Given the description of an element on the screen output the (x, y) to click on. 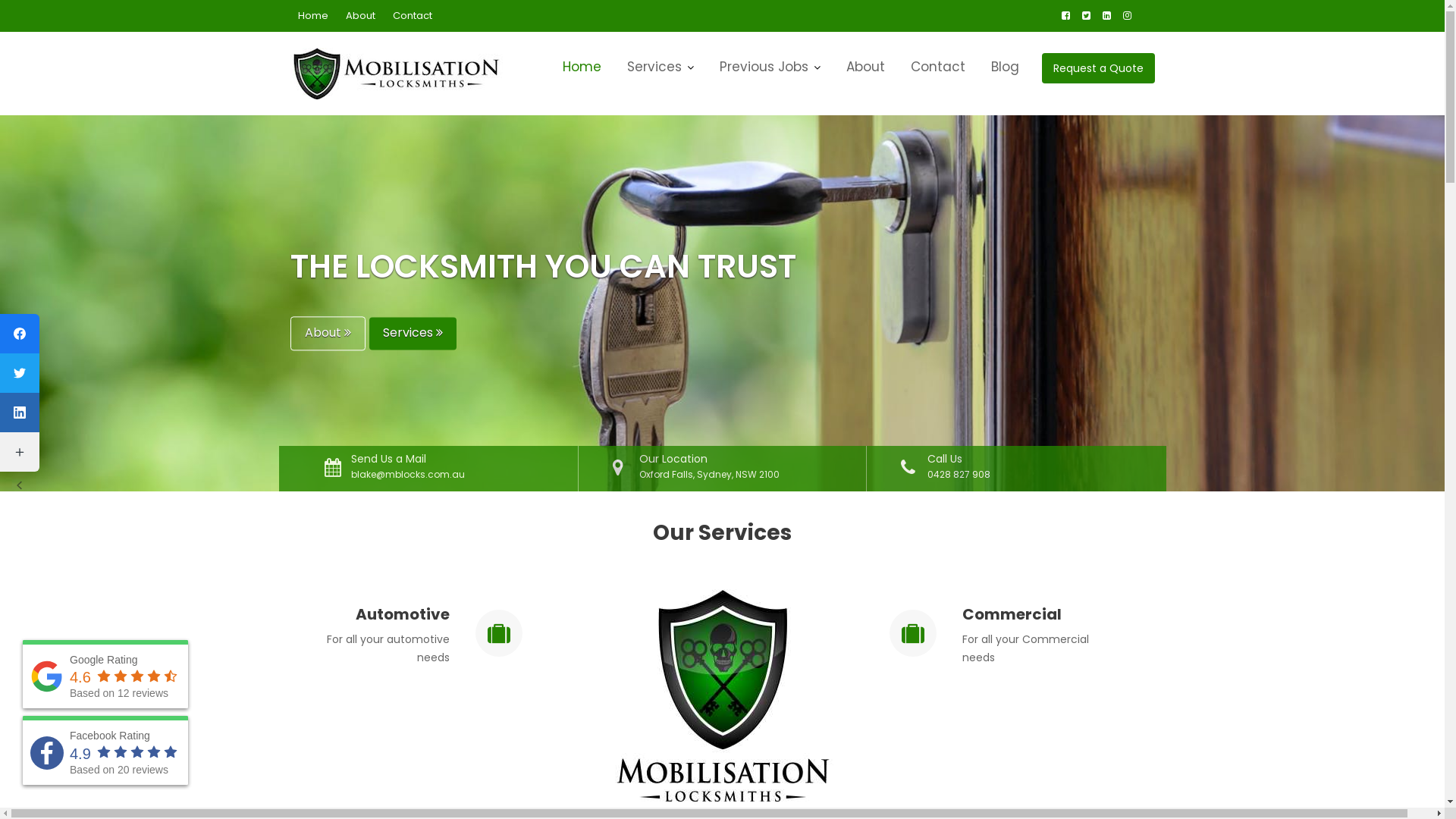
About Element type: text (326, 333)
About Element type: text (864, 66)
Home Element type: text (580, 66)
Home Element type: text (312, 15)
Contact Element type: text (937, 66)
Google Rating
4.6
Based on 12 reviews Element type: text (105, 674)
Previous Jobs Element type: text (769, 66)
Services Element type: text (660, 66)
Services Element type: text (411, 333)
Contact Element type: text (412, 15)
About Element type: text (360, 15)
Request a Quote Element type: text (1097, 68)
Blog Element type: text (1004, 66)
Facebook Rating
4.9
Based on 20 reviews Element type: text (105, 749)
Commercial Element type: text (1010, 613)
Automotive Element type: text (401, 613)
